Given the description of an element on the screen output the (x, y) to click on. 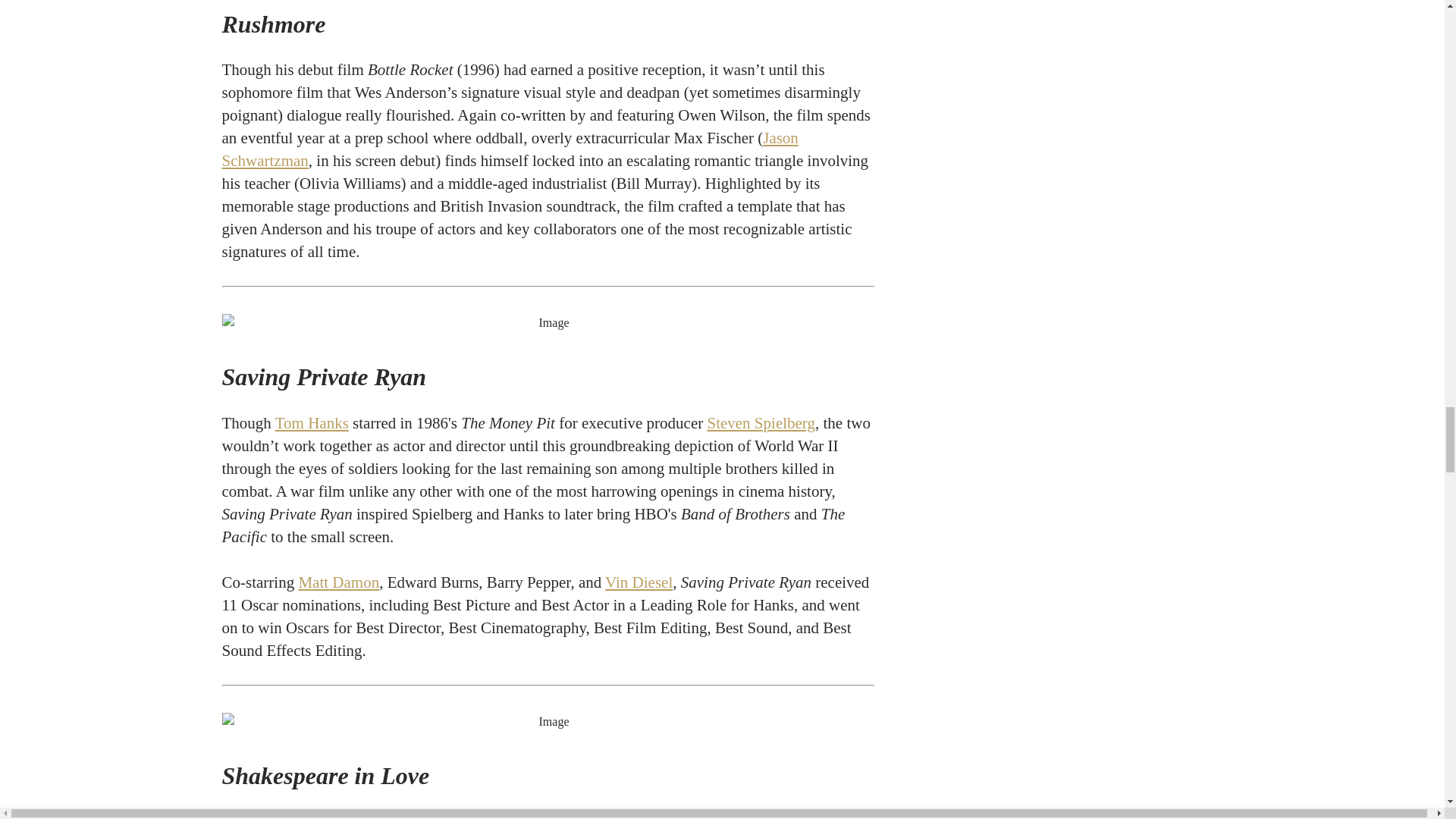
Steven Spielberg (760, 423)
Jason Schwartzman (509, 148)
Vin Diesel (638, 582)
Matt Damon (338, 582)
Tom Hanks (312, 423)
